Given the description of an element on the screen output the (x, y) to click on. 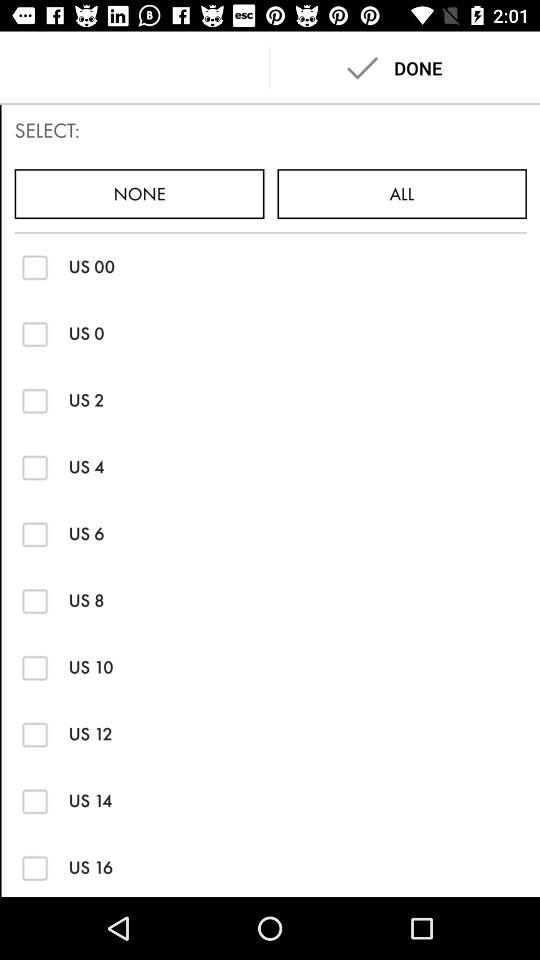
choice us 14 (34, 800)
